Given the description of an element on the screen output the (x, y) to click on. 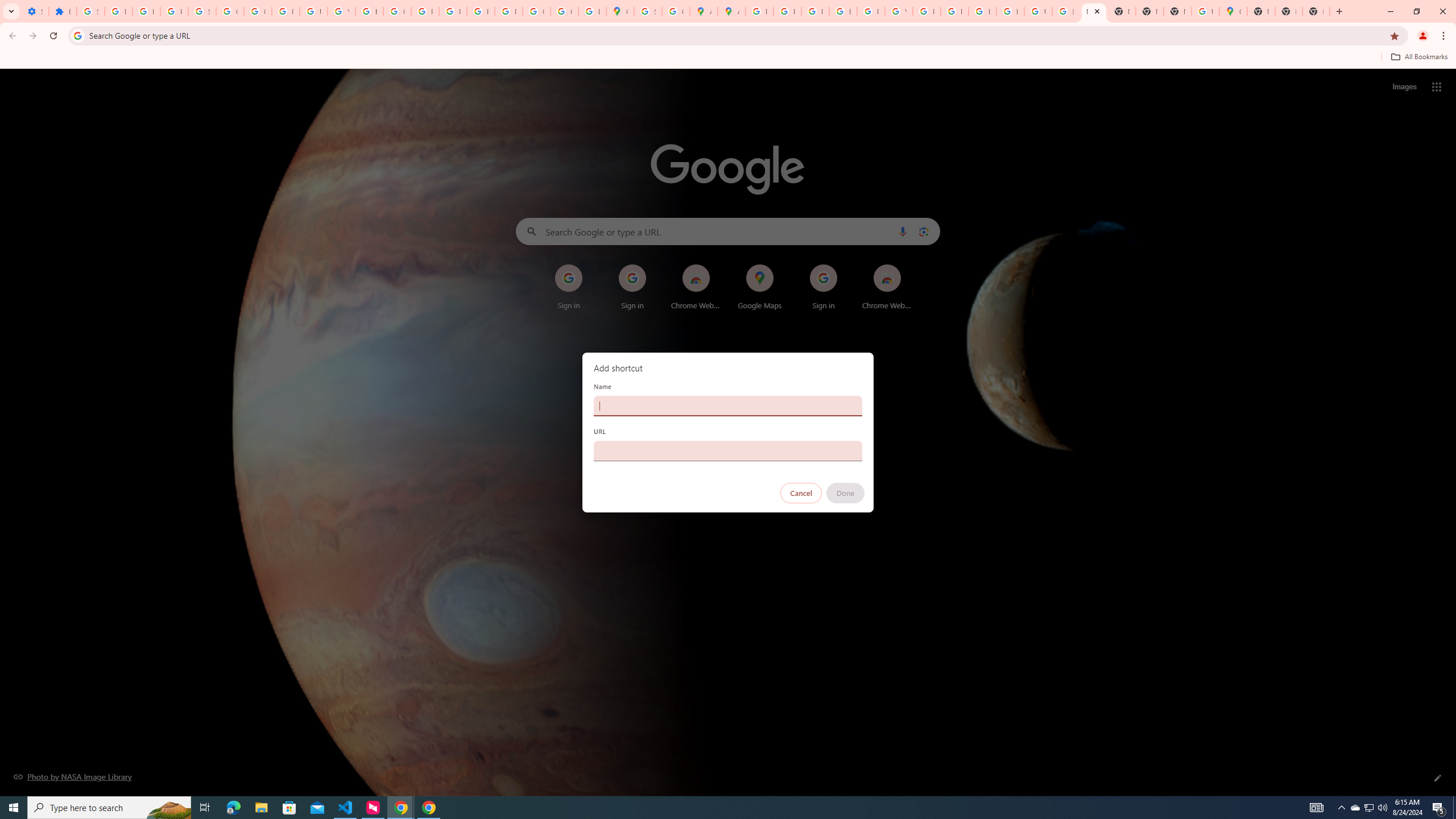
Privacy Help Center - Policies Help (815, 11)
Bookmarks (728, 58)
Sign in - Google Accounts (202, 11)
Cancel (801, 493)
